Given the description of an element on the screen output the (x, y) to click on. 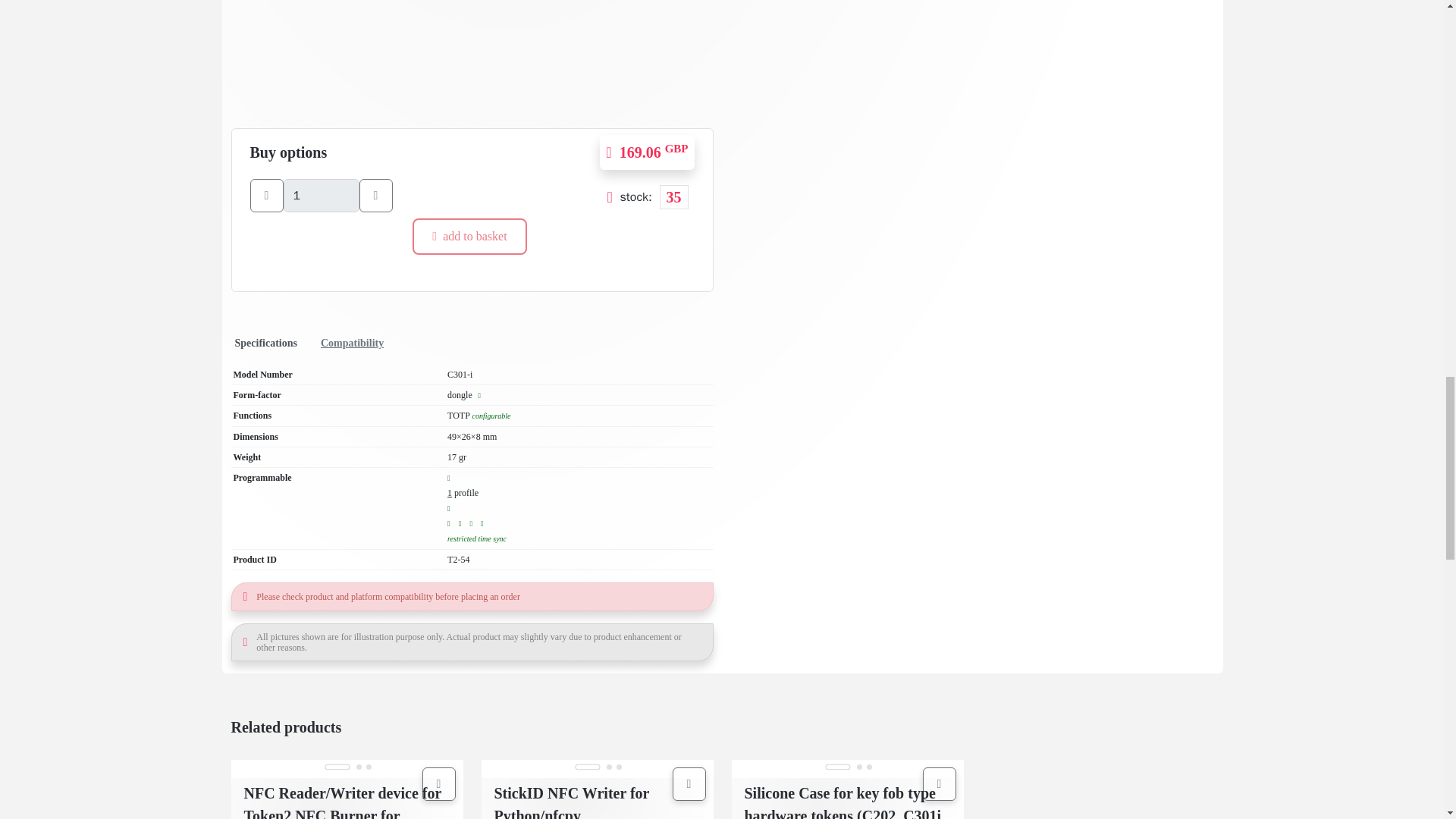
keychain attachable, rope included (479, 395)
1 (321, 195)
